Given the description of an element on the screen output the (x, y) to click on. 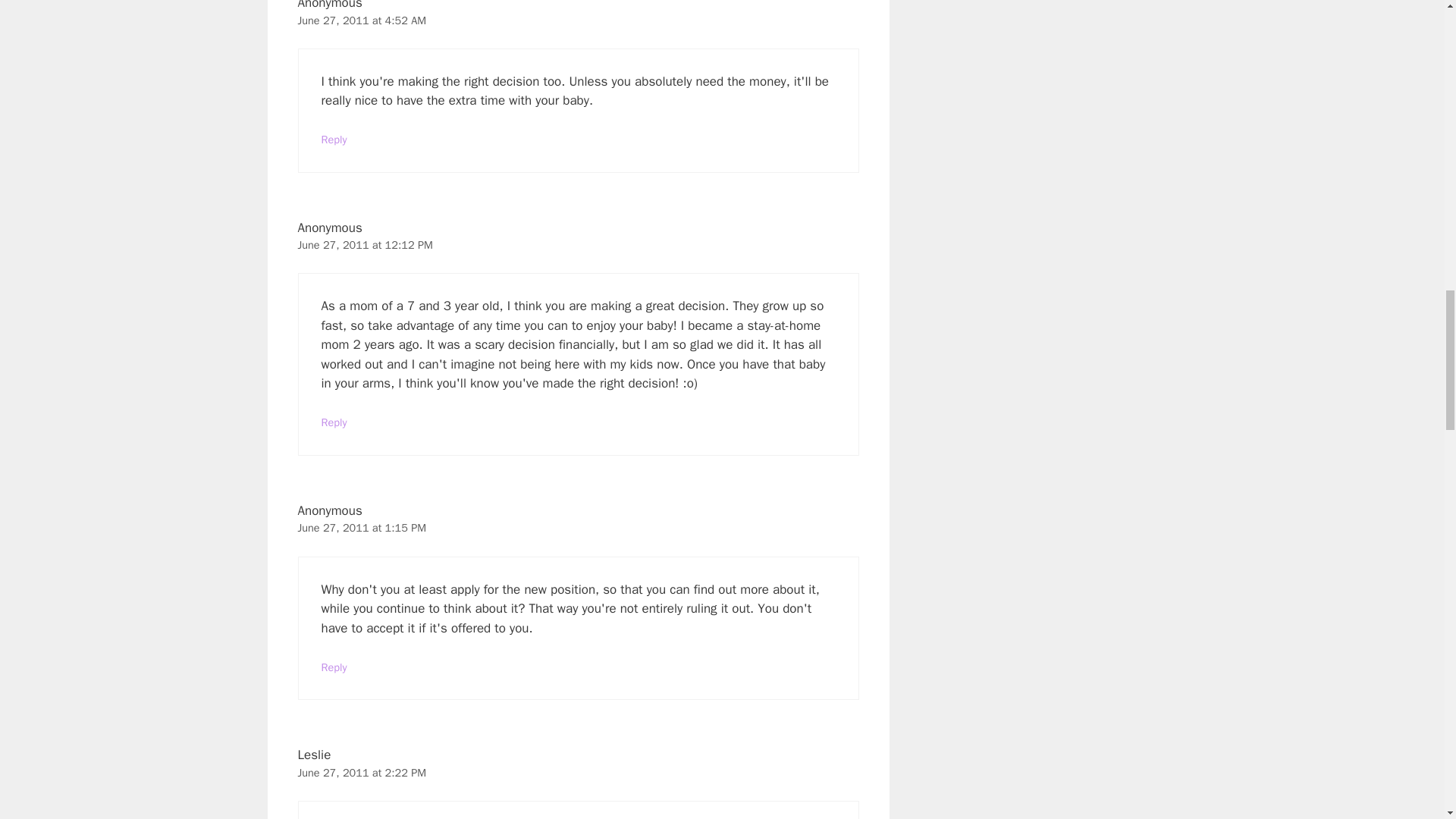
June 27, 2011 at 1:15 PM (361, 527)
Reply (334, 422)
Reply (334, 139)
Reply (334, 667)
June 27, 2011 at 12:12 PM (364, 244)
June 27, 2011 at 4:52 AM (361, 20)
June 27, 2011 at 2:22 PM (361, 772)
